Given the description of an element on the screen output the (x, y) to click on. 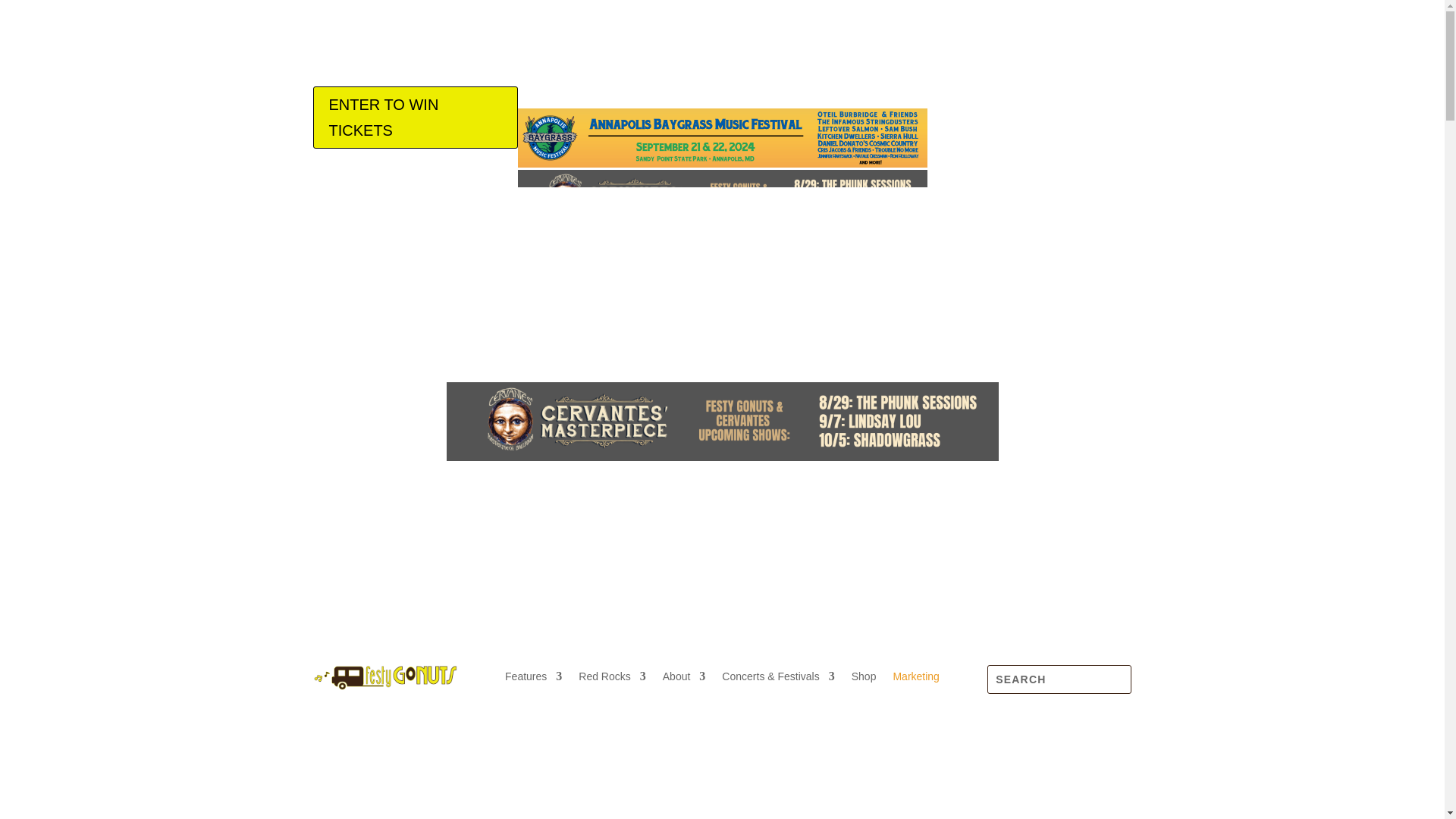
Follow on Spotify (1088, 473)
Festy GoNuts (385, 677)
Follow on Spotify (1088, 98)
Follow on Youtube (1118, 98)
Follow on Youtube (1118, 473)
Follow on Facebook (1028, 473)
Follow on Instagram (1058, 473)
ENTER TO WIN TICKETS (414, 117)
Red Rocks (611, 678)
Follow on Instagram (1058, 98)
